Given the description of an element on the screen output the (x, y) to click on. 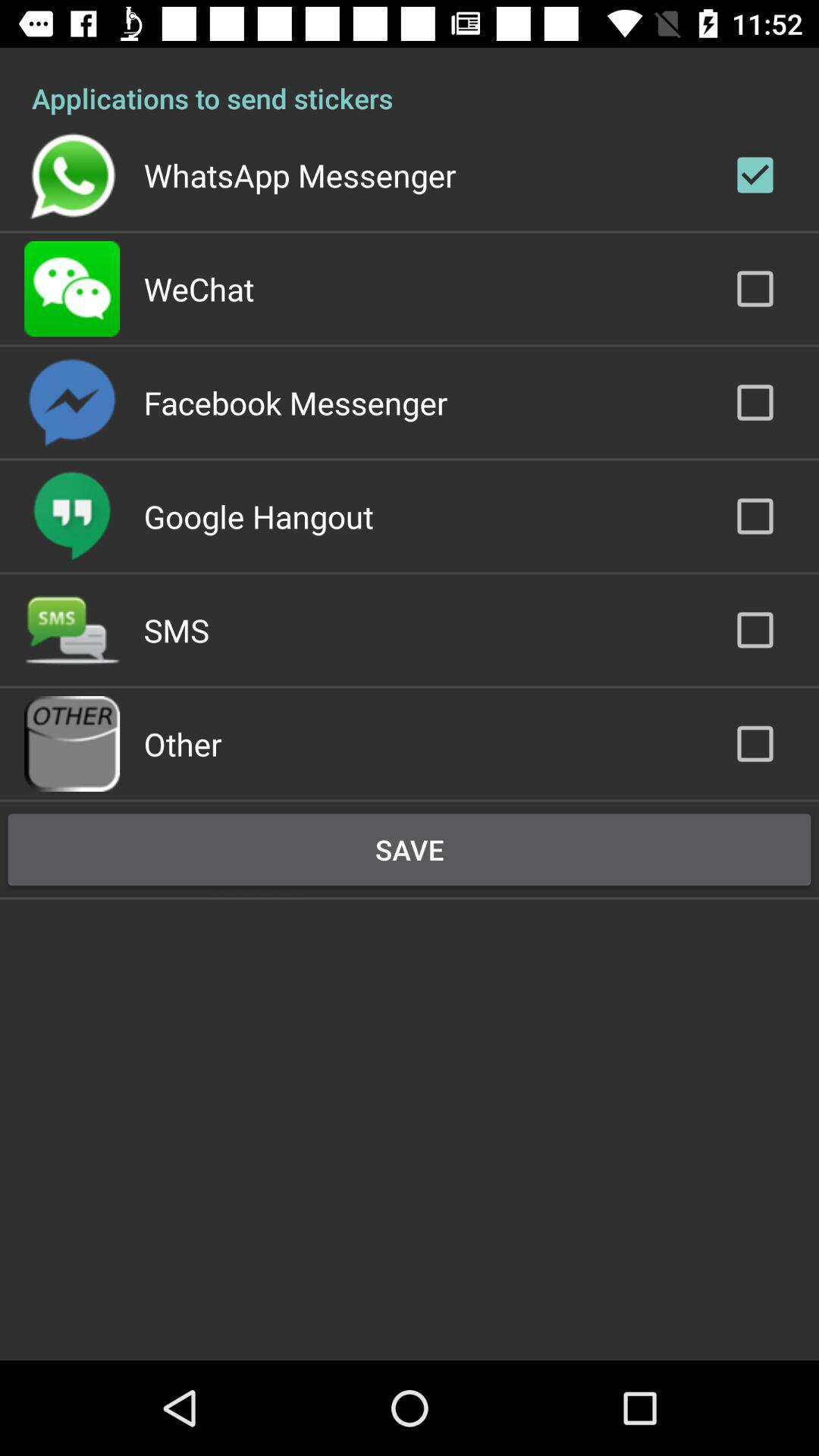
tap the whatsapp messenger app (299, 174)
